Given the description of an element on the screen output the (x, y) to click on. 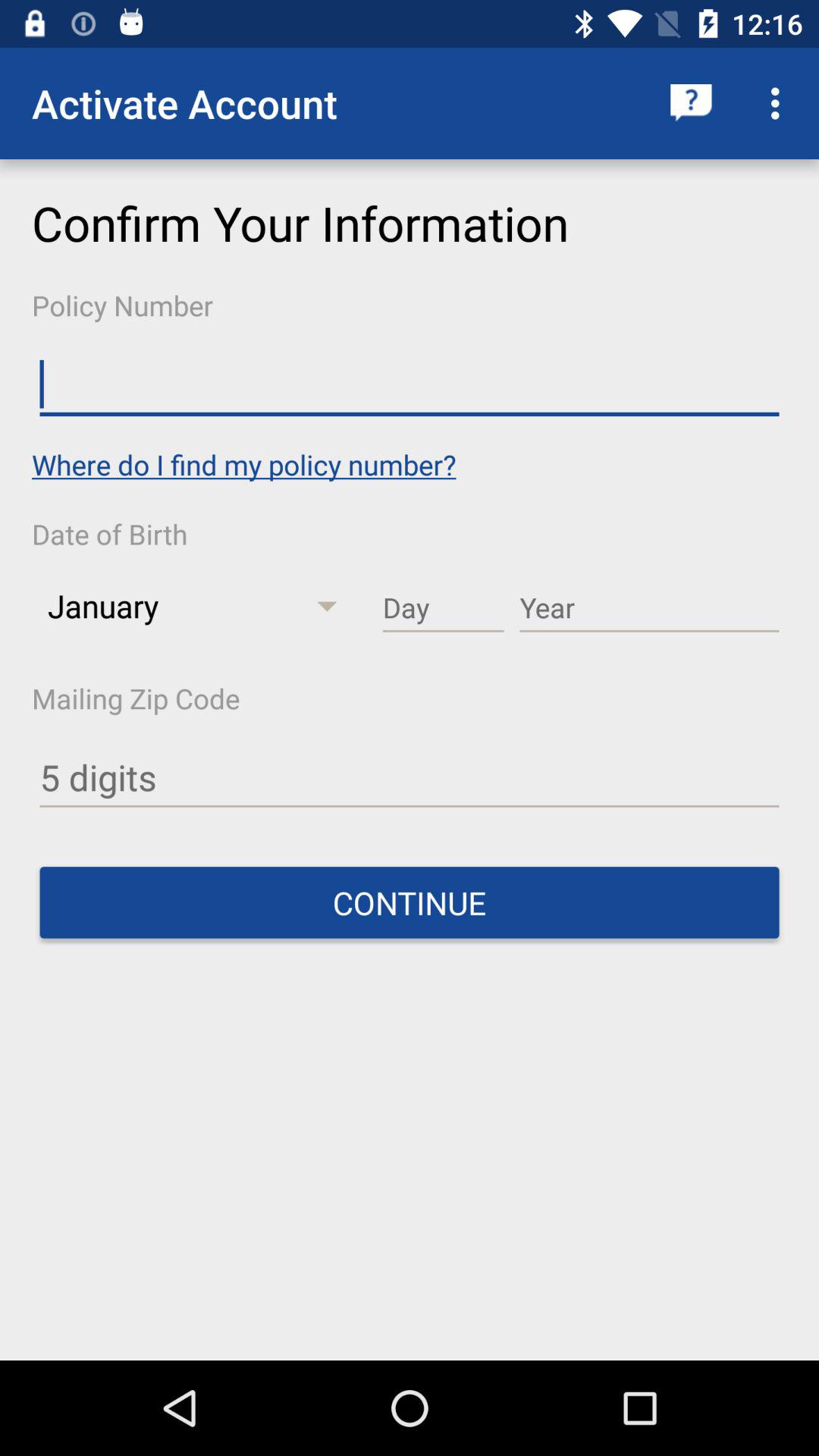
clique aqui para adicionar os 5 primeiros dgitos de seu cdco postal (409, 777)
